Given the description of an element on the screen output the (x, y) to click on. 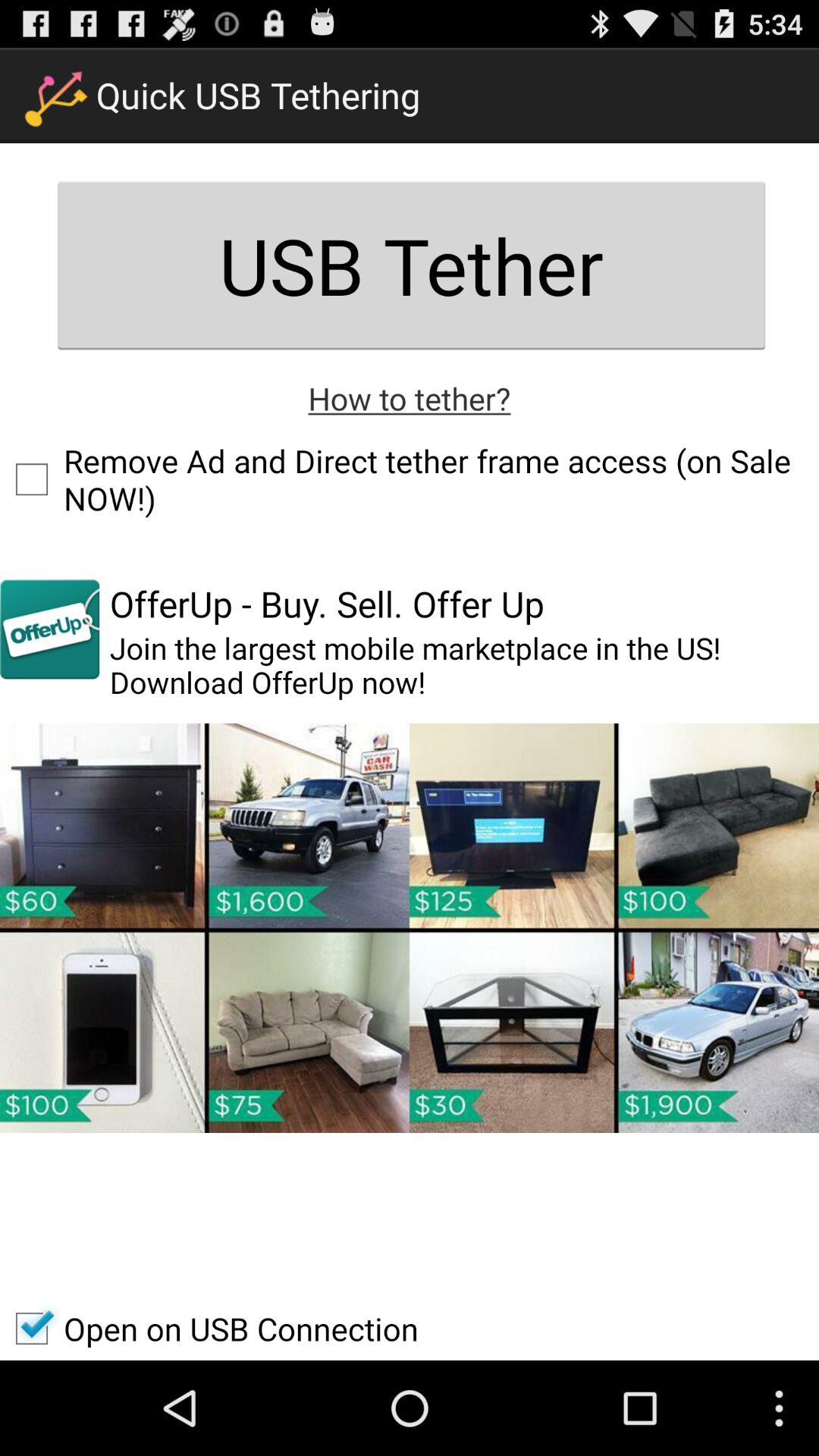
flip to the open on usb icon (209, 1328)
